Given the description of an element on the screen output the (x, y) to click on. 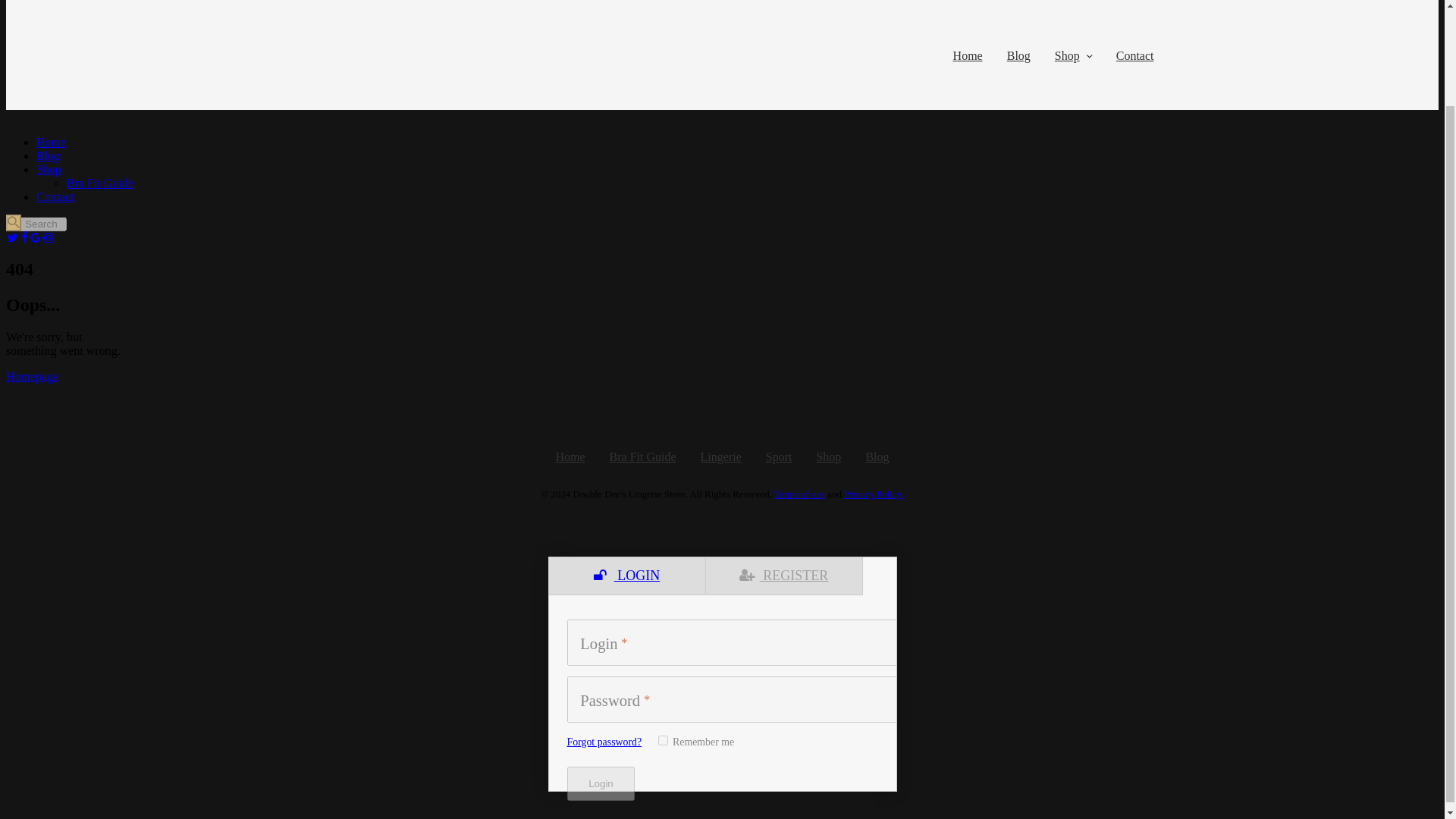
Login (600, 783)
Home (967, 55)
Login (600, 783)
forever (663, 740)
Contact (55, 196)
Forgot password? (604, 741)
REGISTER (782, 575)
Bra Fit Guide (642, 456)
Home (50, 141)
Home (569, 456)
